Given the description of an element on the screen output the (x, y) to click on. 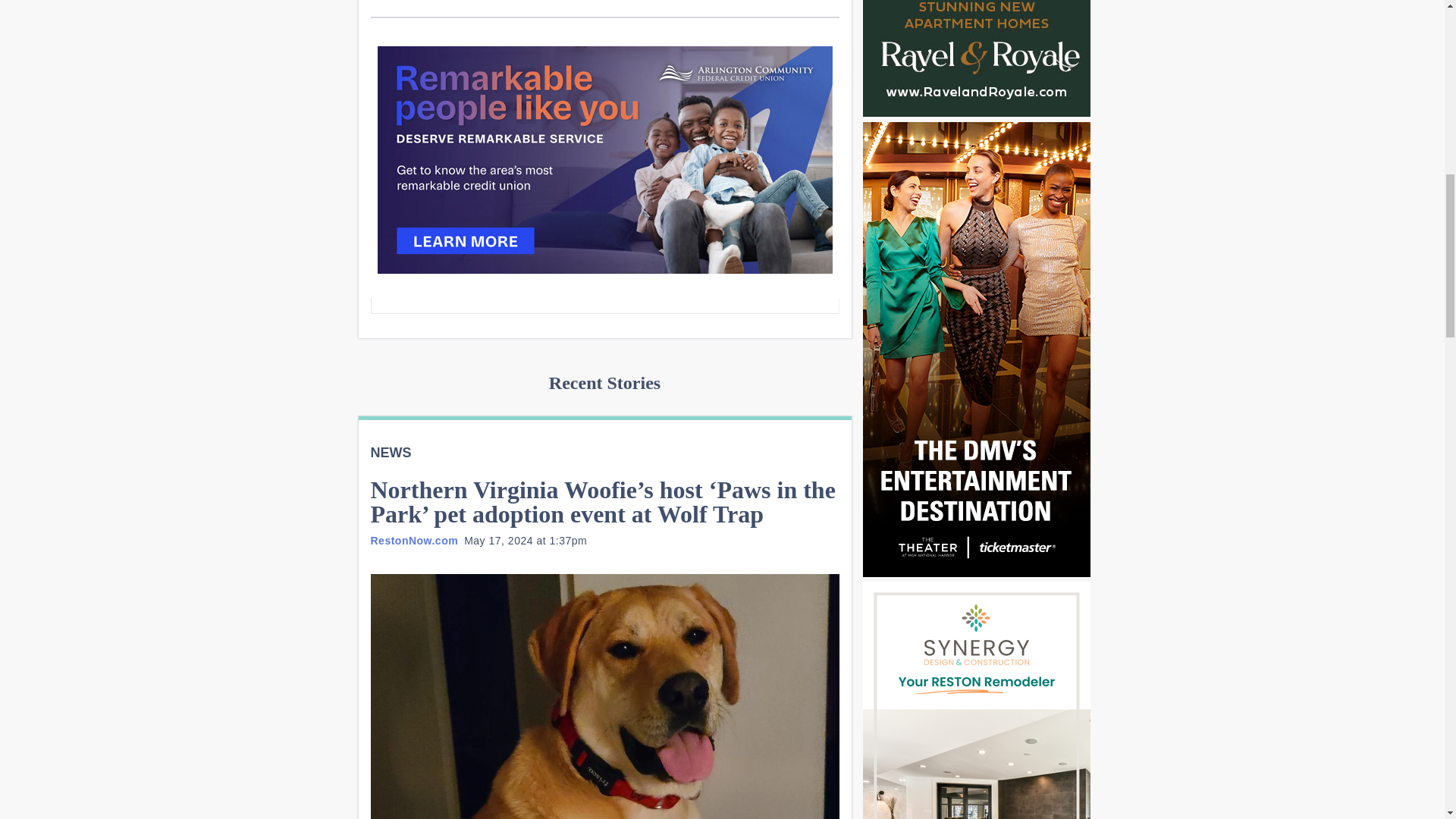
NEWS (389, 452)
RestonNow.com (413, 540)
Ravel and Royale Tour Apartments S FFXnow (976, 58)
Remarkable People Like You FFXnow (604, 159)
Posts by RestonNow.com (413, 540)
Synergy Reston Remodeler (976, 700)
